Given the description of an element on the screen output the (x, y) to click on. 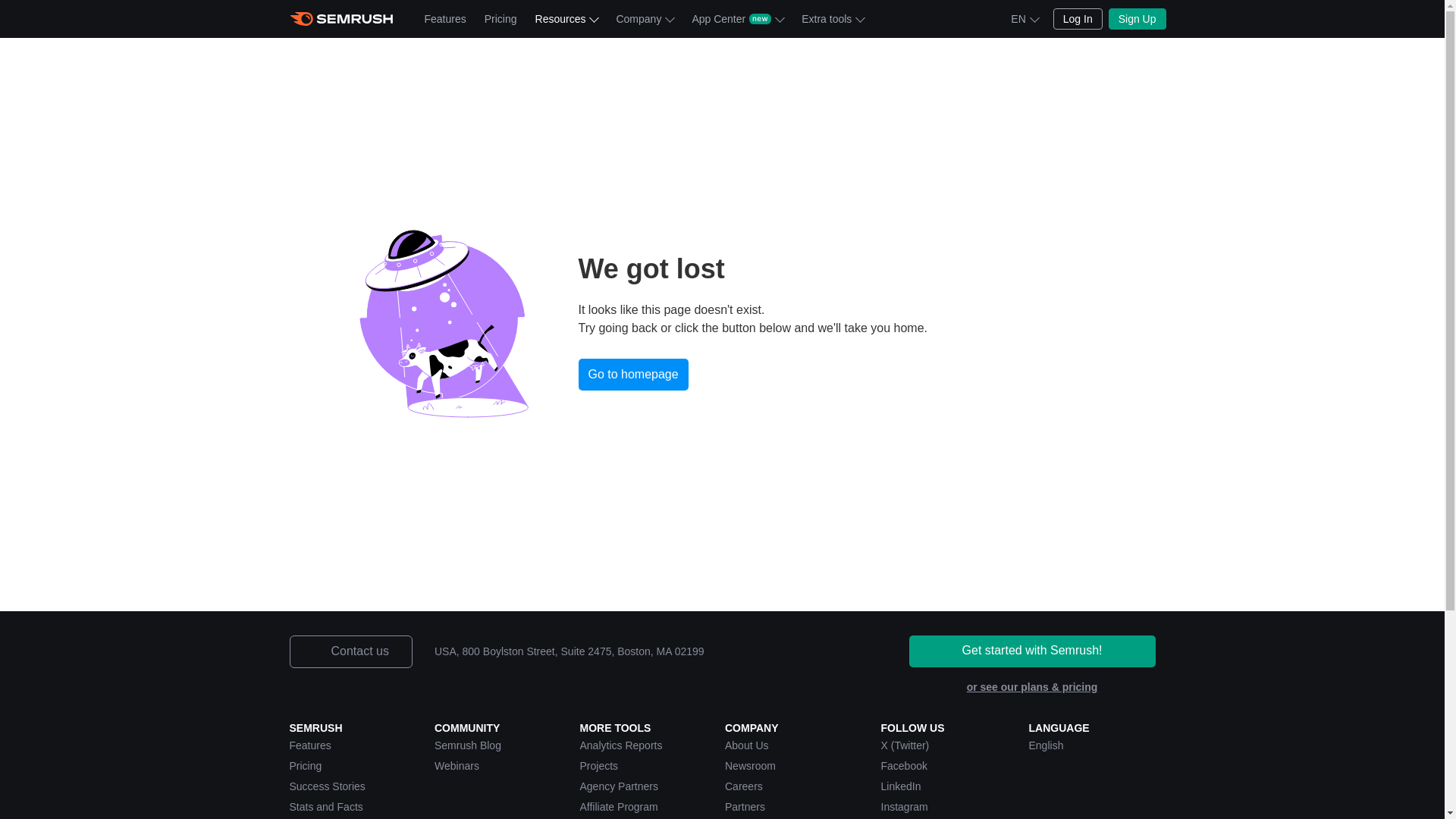
Features (445, 18)
Company (644, 18)
Resources (566, 18)
Extra tools (832, 18)
App Center (737, 18)
Pricing (500, 18)
